Given the description of an element on the screen output the (x, y) to click on. 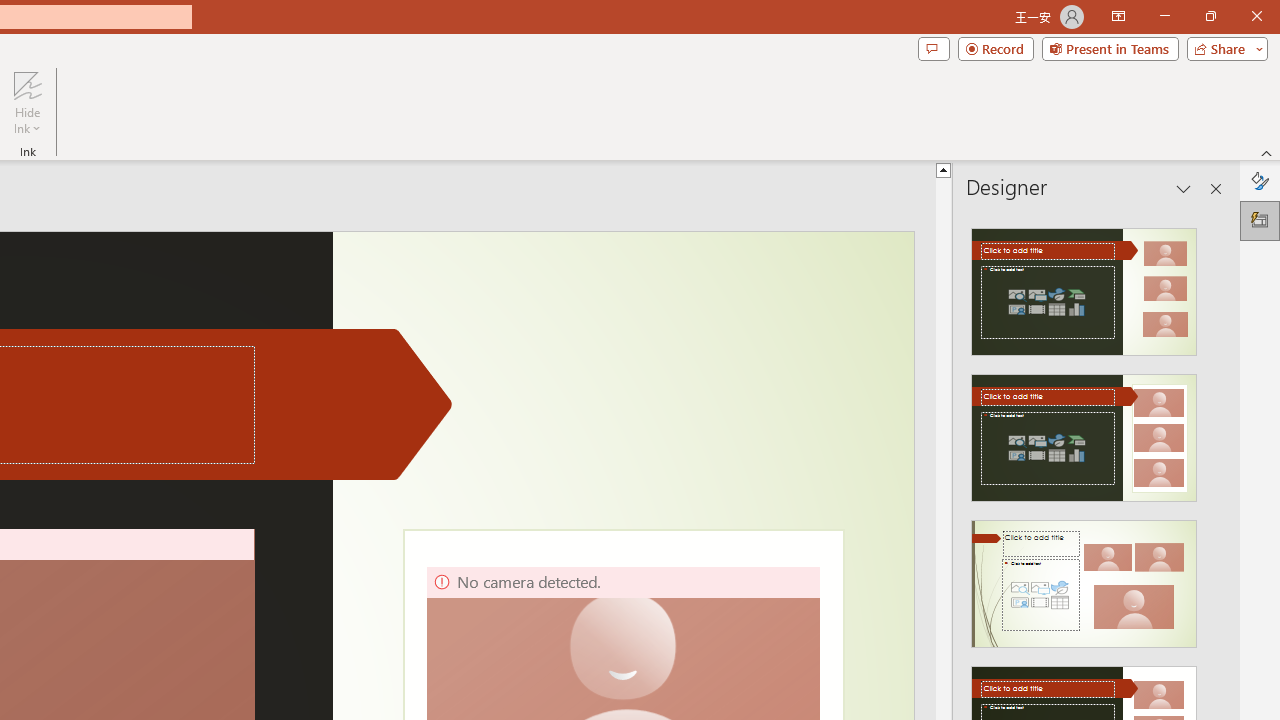
Design Idea (1083, 577)
Hide Ink (27, 84)
Designer (1260, 220)
Format Background (1260, 180)
Hide Ink (27, 102)
